Given the description of an element on the screen output the (x, y) to click on. 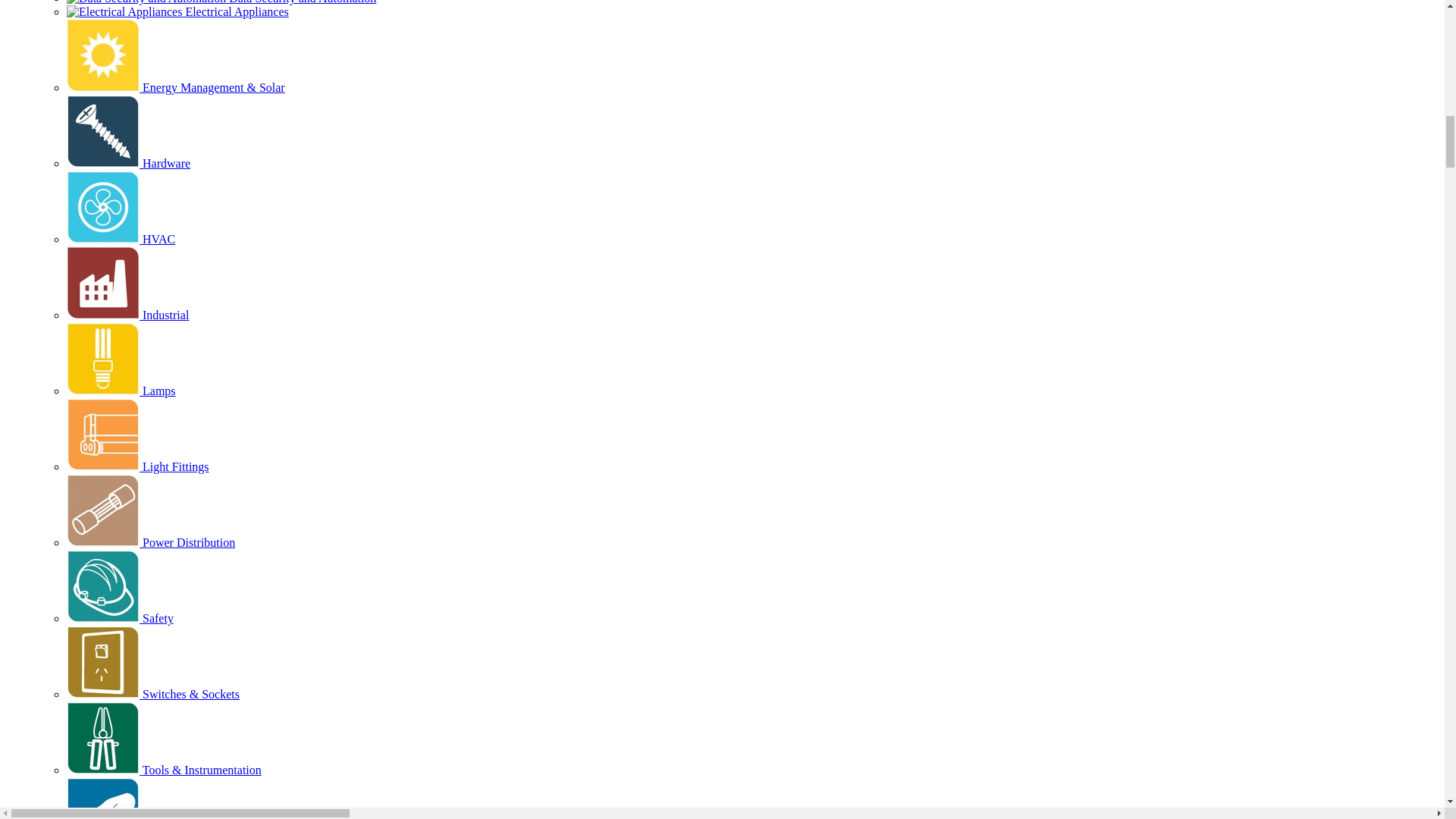
Lamps (121, 390)
Light Fittings (137, 466)
Industrial (127, 314)
Electrical Appliances (177, 11)
HVAC (120, 238)
Hardware (128, 163)
Power Distribution (150, 542)
Safety (119, 617)
Data Security and Automation (220, 2)
